Given the description of an element on the screen output the (x, y) to click on. 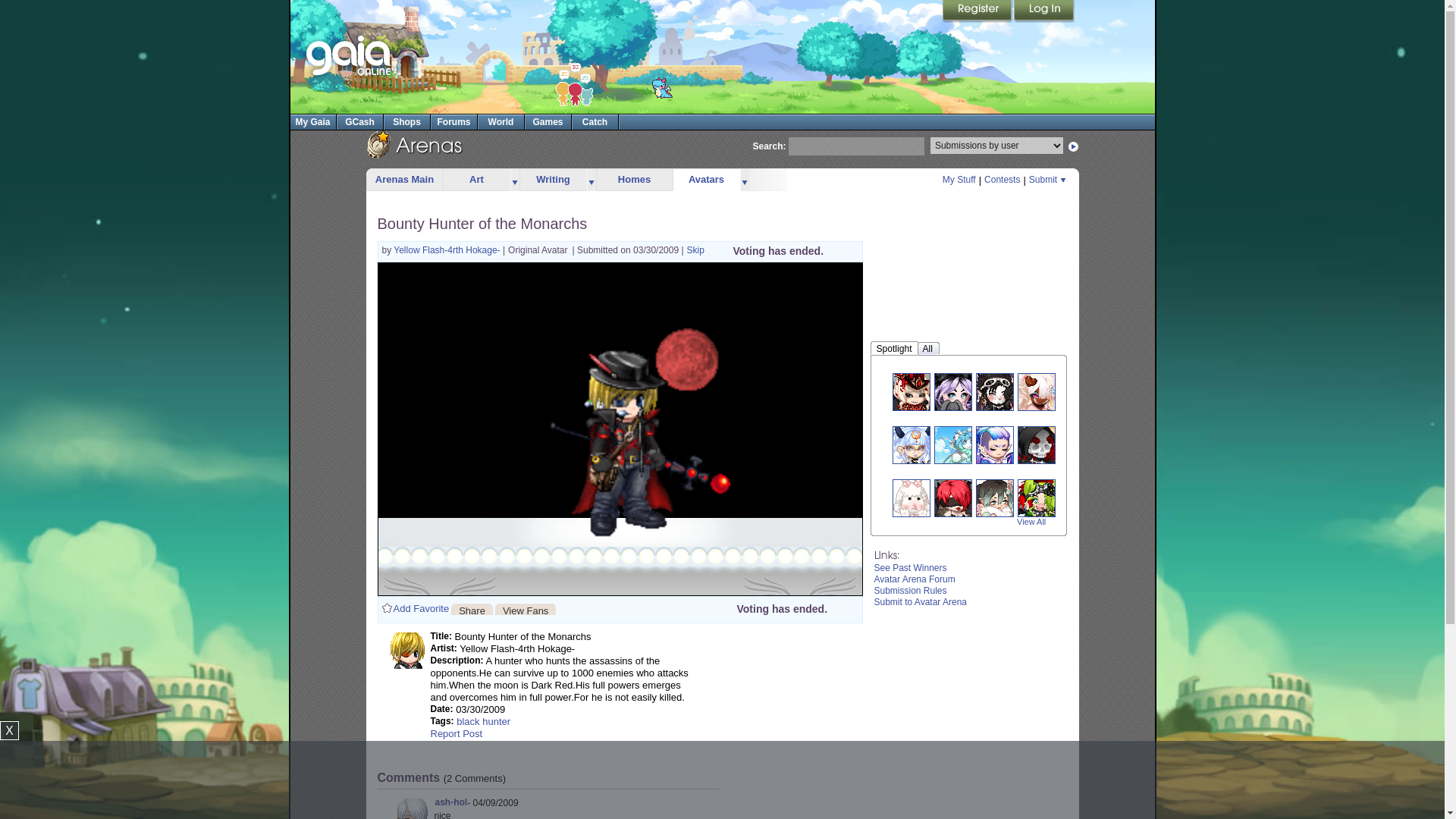
Login (1043, 11)
GCash (358, 121)
Register (977, 11)
Cheeky Dragon's Gift (661, 87)
Return to the Gaia Homepage (350, 56)
View Yellow Flash-4rth Hokage-'s profile (447, 249)
My Gaia (311, 121)
submit (1074, 146)
submit (1074, 146)
Create a free account now (977, 11)
Login to Gaia (1043, 11)
